Given the description of an element on the screen output the (x, y) to click on. 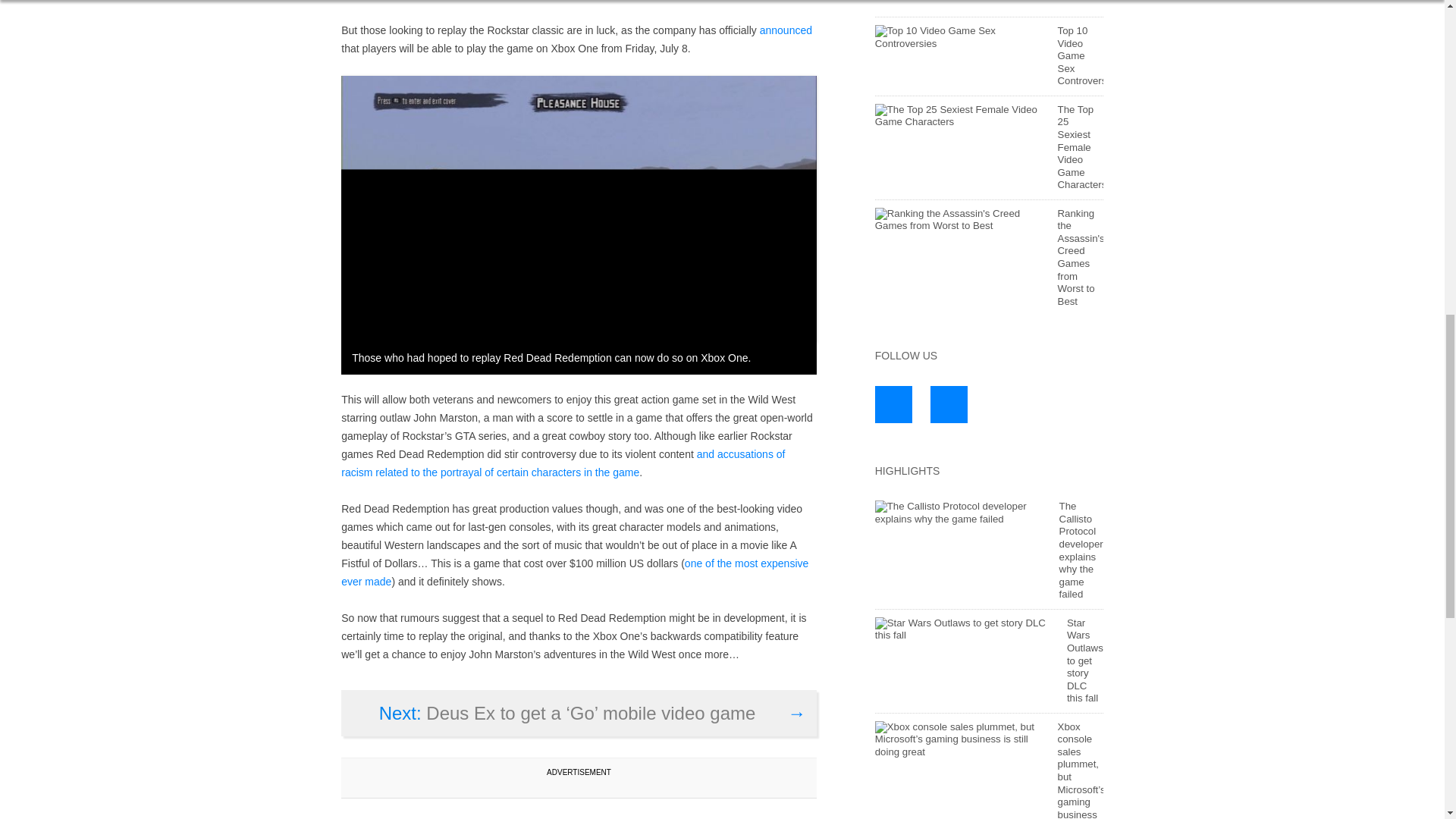
Top 10 Video Game Sex Controversies (1088, 55)
one of the most expensive ever made (574, 572)
Top 10 Video Game Sex Controversies (958, 37)
announced (786, 30)
Ranking the Far Cry Games from Best to Worst (923, 4)
